Given the description of an element on the screen output the (x, y) to click on. 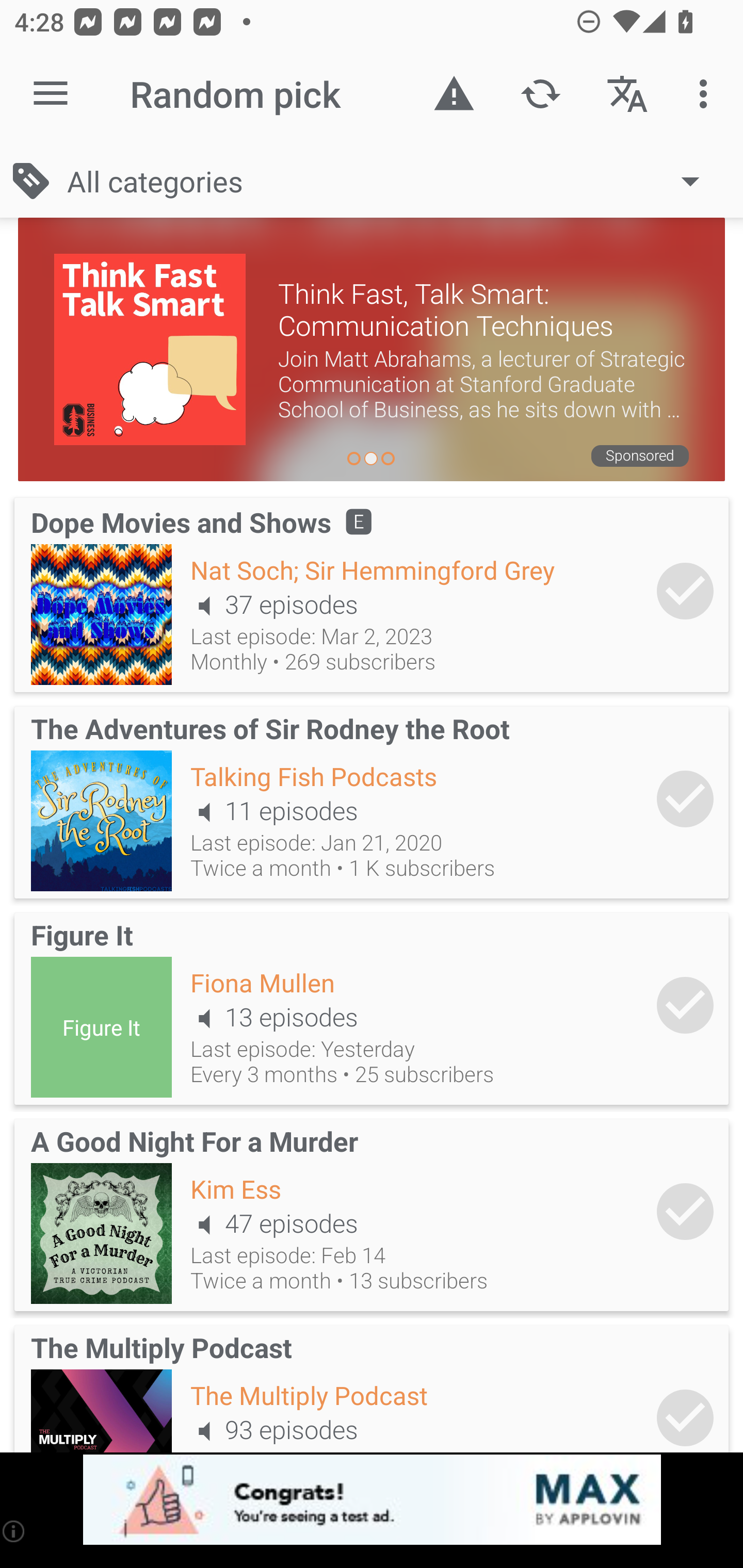
Open navigation sidebar (50, 93)
Report inappropriate content (453, 93)
Update top podcasts list (540, 93)
Podcast languages (626, 93)
More options (706, 93)
All categories (393, 180)
Add (684, 591)
Add (684, 798)
Add (684, 1004)
Add (684, 1211)
Add (684, 1413)
app-monetization (371, 1500)
(i) (14, 1531)
